Given the description of an element on the screen output the (x, y) to click on. 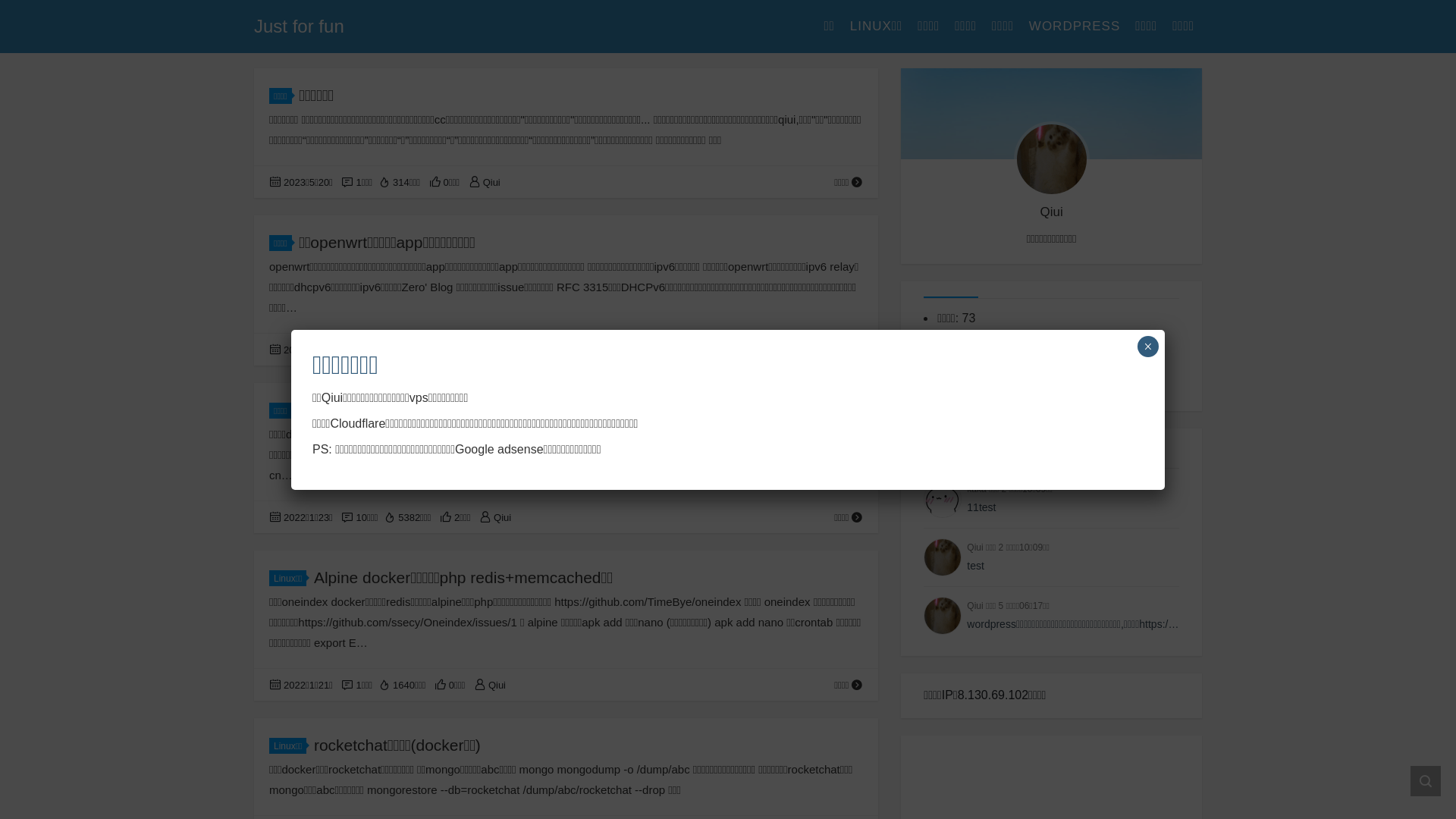
Just for fun Element type: text (305, 26)
WORDPRESS Element type: text (1074, 26)
